Given the description of an element on the screen output the (x, y) to click on. 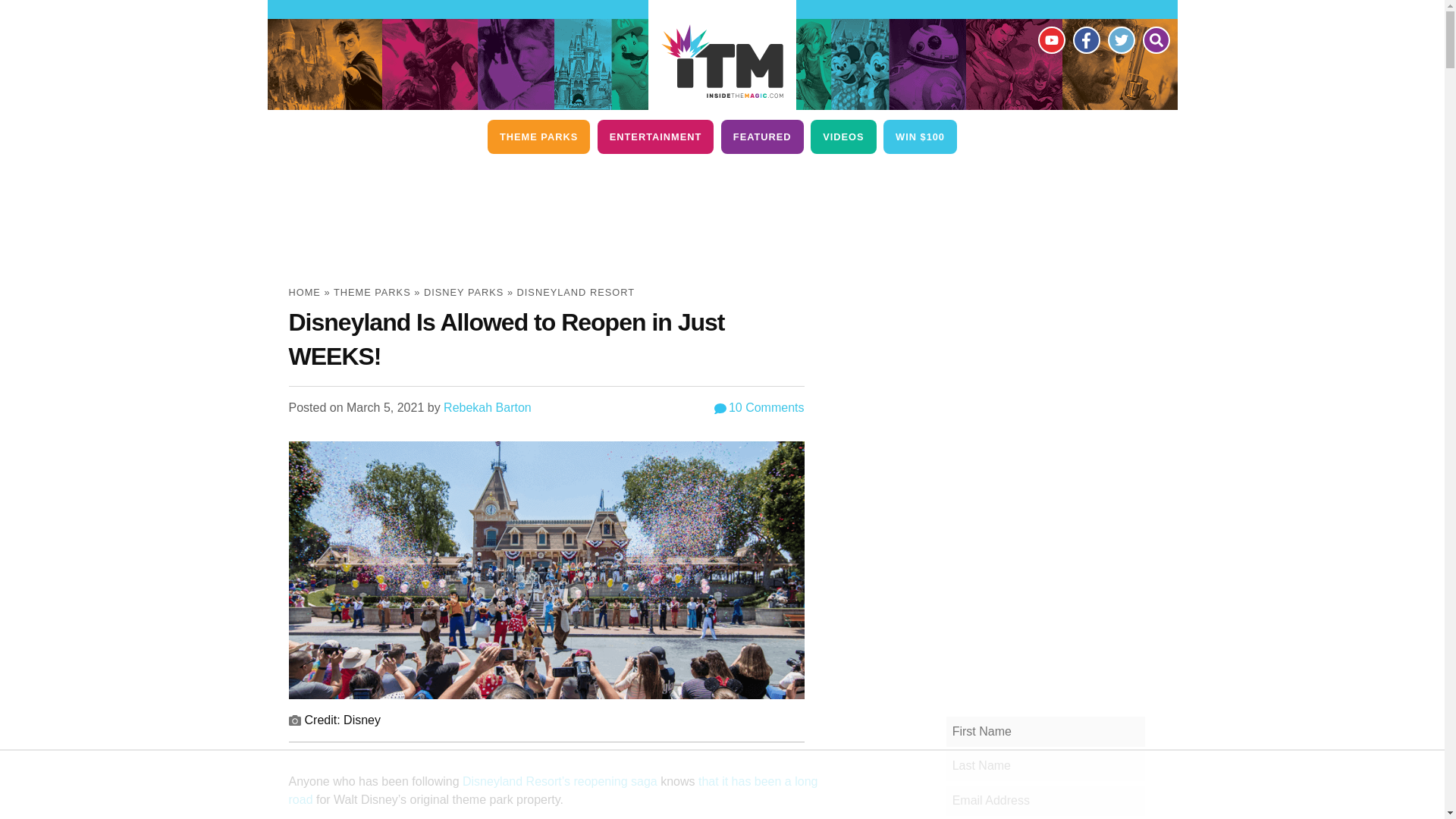
Search (1155, 40)
Facebook (1085, 40)
YouTube (1050, 40)
THEME PARKS (538, 136)
FEATURED (761, 136)
Twitter (1120, 40)
ENTERTAINMENT (655, 136)
